Given the description of an element on the screen output the (x, y) to click on. 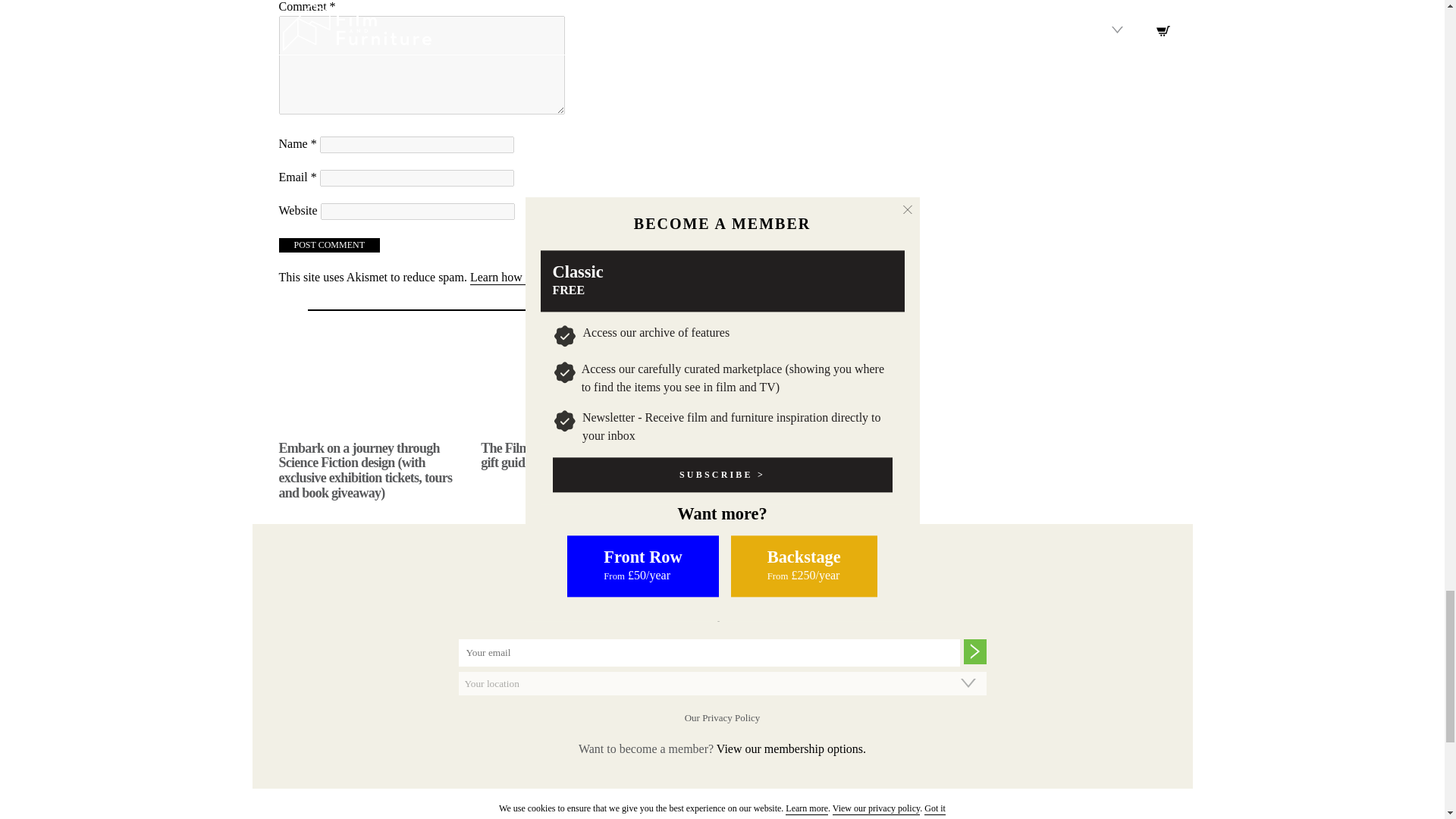
Post Comment (329, 245)
